Given the description of an element on the screen output the (x, y) to click on. 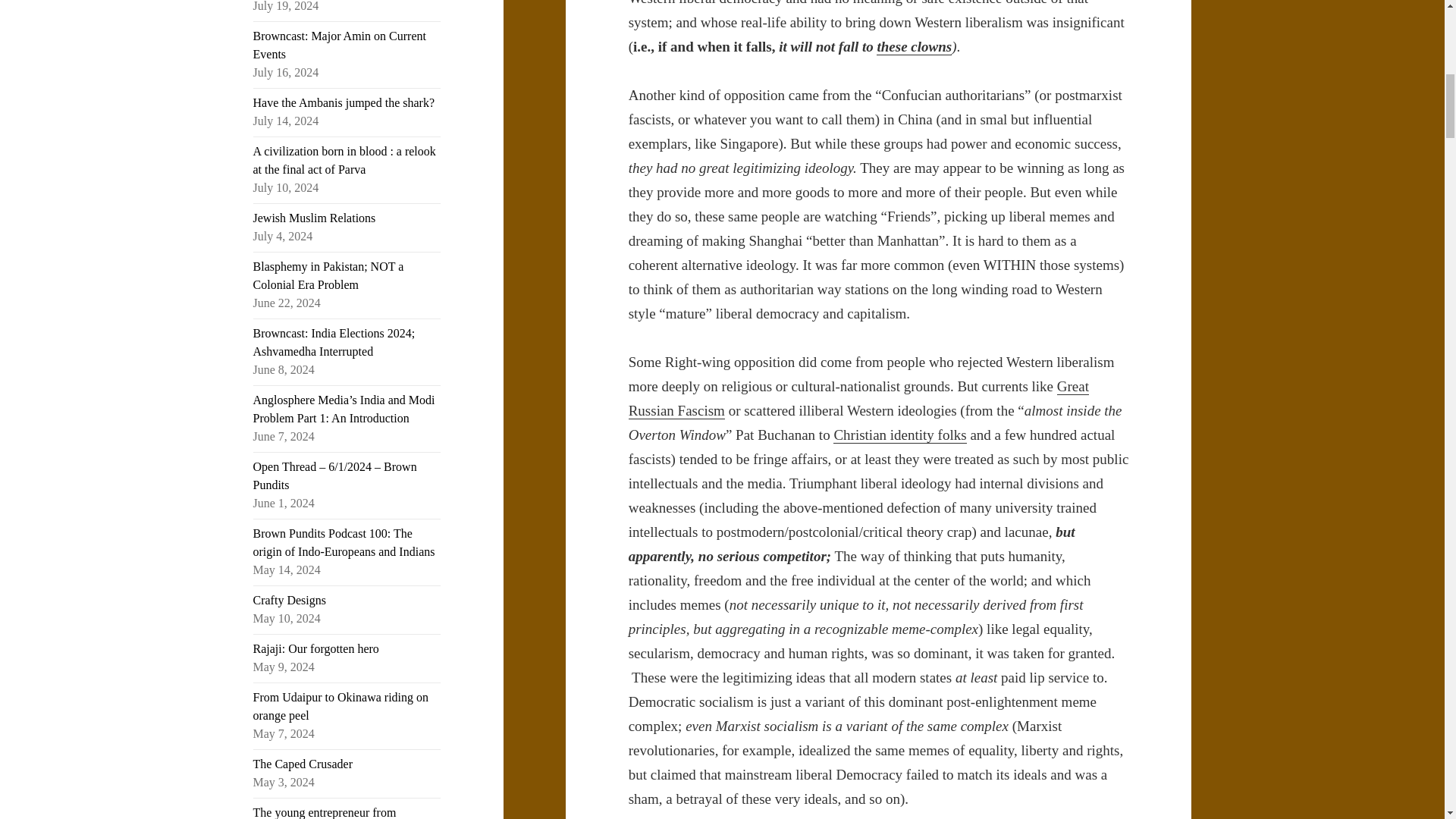
Rajaji: Our forgotten hero (315, 648)
Crafty Designs (289, 599)
The Caped Crusader (303, 763)
Browncast: India Elections 2024; Ashvamedha Interrupted (333, 341)
Jewish Muslim Relations (314, 217)
Browncast: Major Amin on Current Events (339, 44)
Blasphemy in Pakistan; NOT a Colonial Era Problem (328, 275)
